Given the description of an element on the screen output the (x, y) to click on. 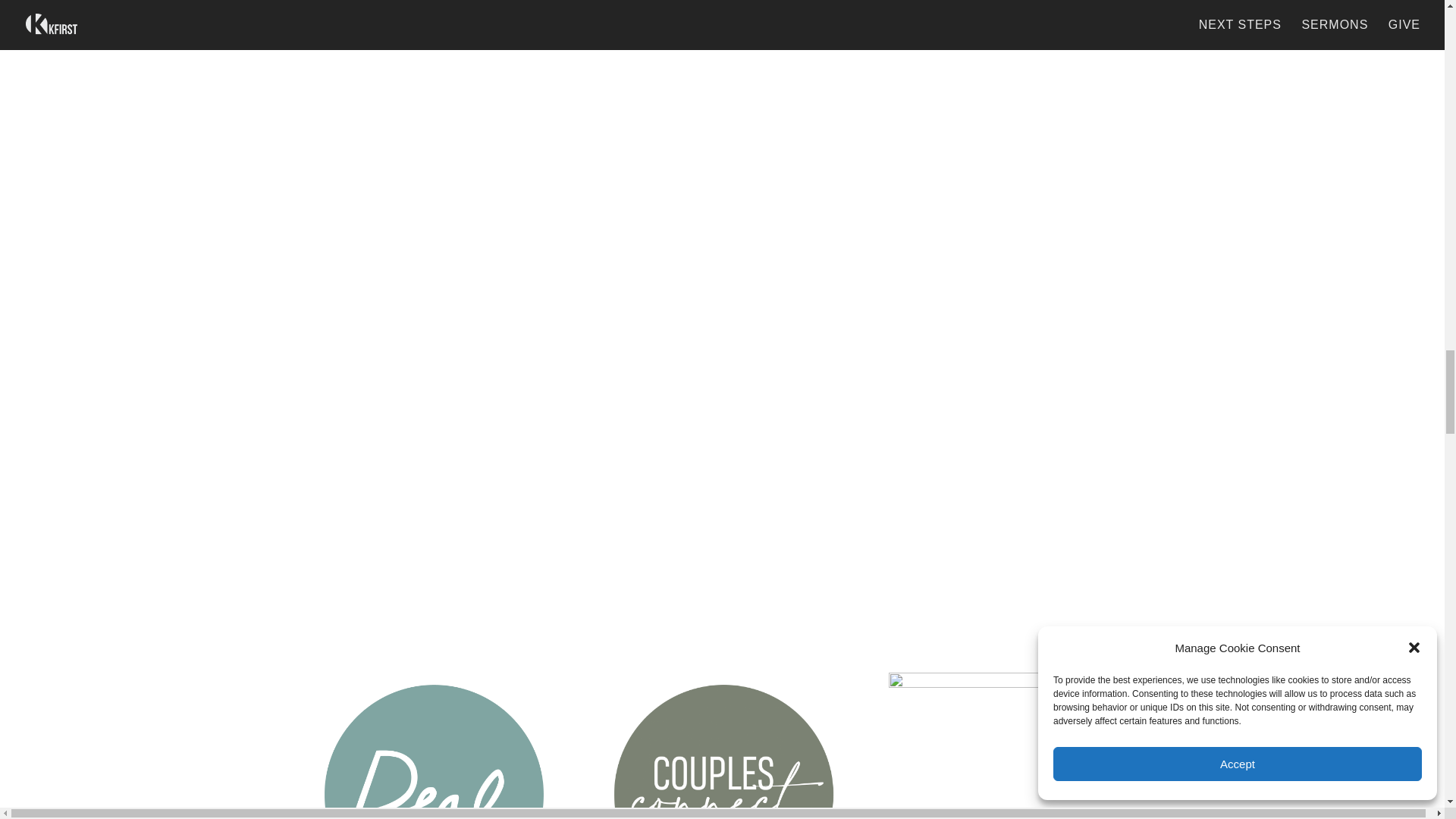
Couples Connect (721, 745)
